Given the description of an element on the screen output the (x, y) to click on. 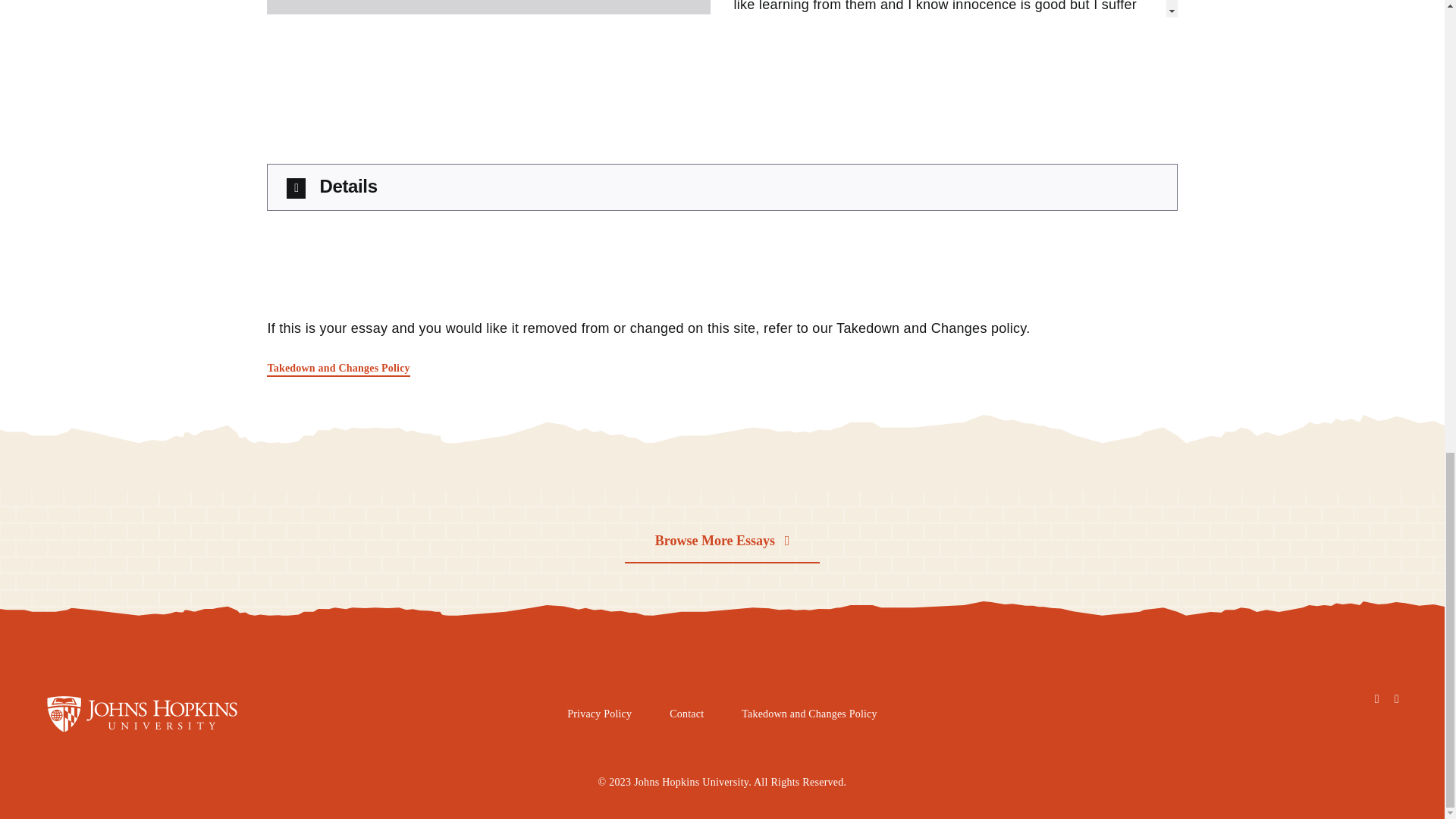
Embedded PDF (488, 7)
Takedown and Changes Policy (337, 369)
Privacy Policy (599, 714)
Takedown and Changes Policy (809, 714)
Johns Hopkins logo (159, 713)
Contact (686, 714)
Browse More Essays (722, 541)
Details (721, 186)
